Given the description of an element on the screen output the (x, y) to click on. 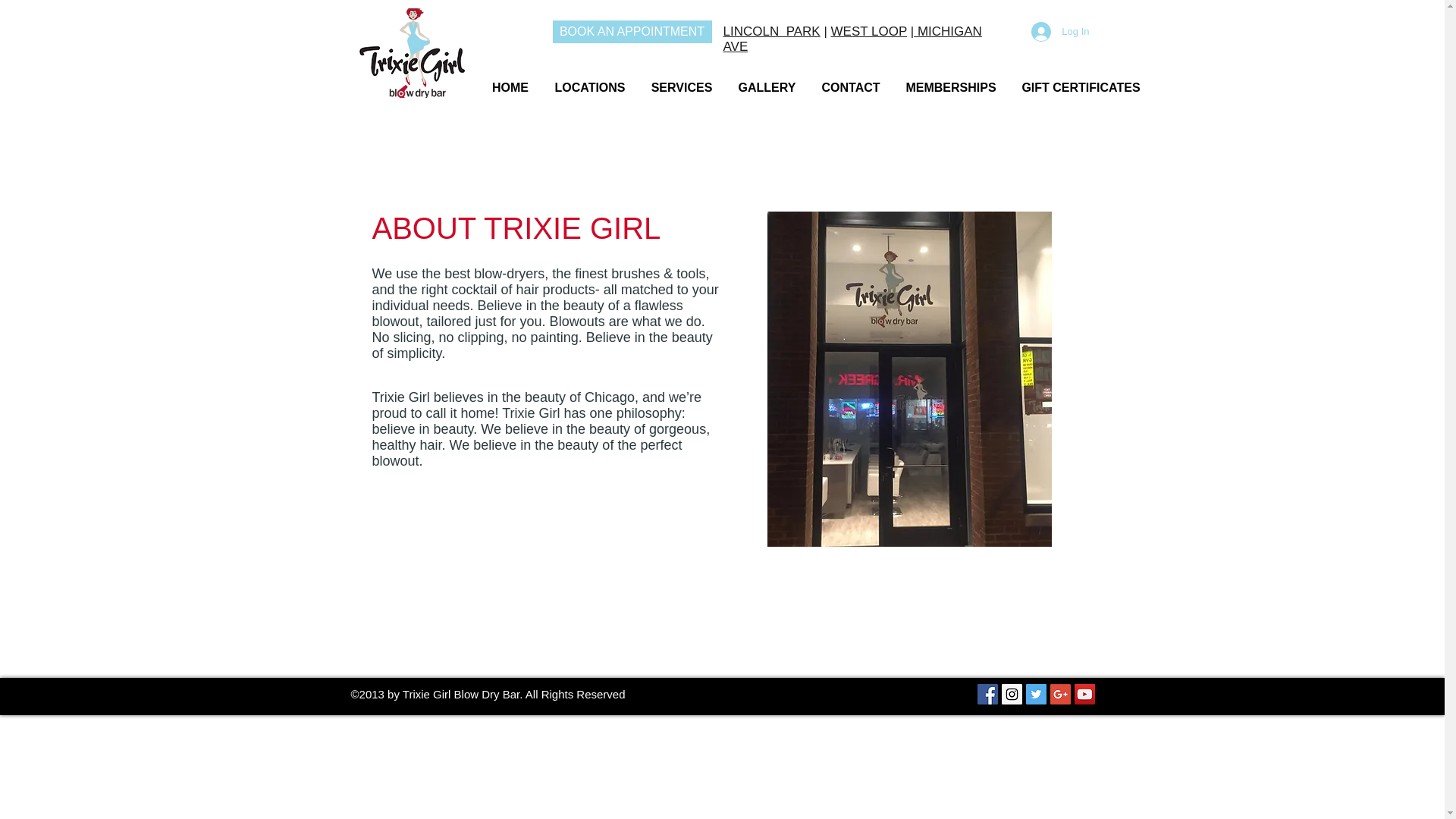
CONTACT (850, 80)
BOOK AN APPOINTMENT (631, 31)
LOCATIONS (589, 80)
MICHIGAN AVE (852, 39)
HOME (510, 80)
TGlogoweb.png (411, 52)
MEMBERSHIPS (951, 80)
GIFT CERTIFICATES (1081, 80)
GALLERY (766, 80)
LINCOLN  PARK (772, 31)
WEST LOOP (869, 31)
Log In (1059, 31)
SERVICES (682, 80)
